Given the description of an element on the screen output the (x, y) to click on. 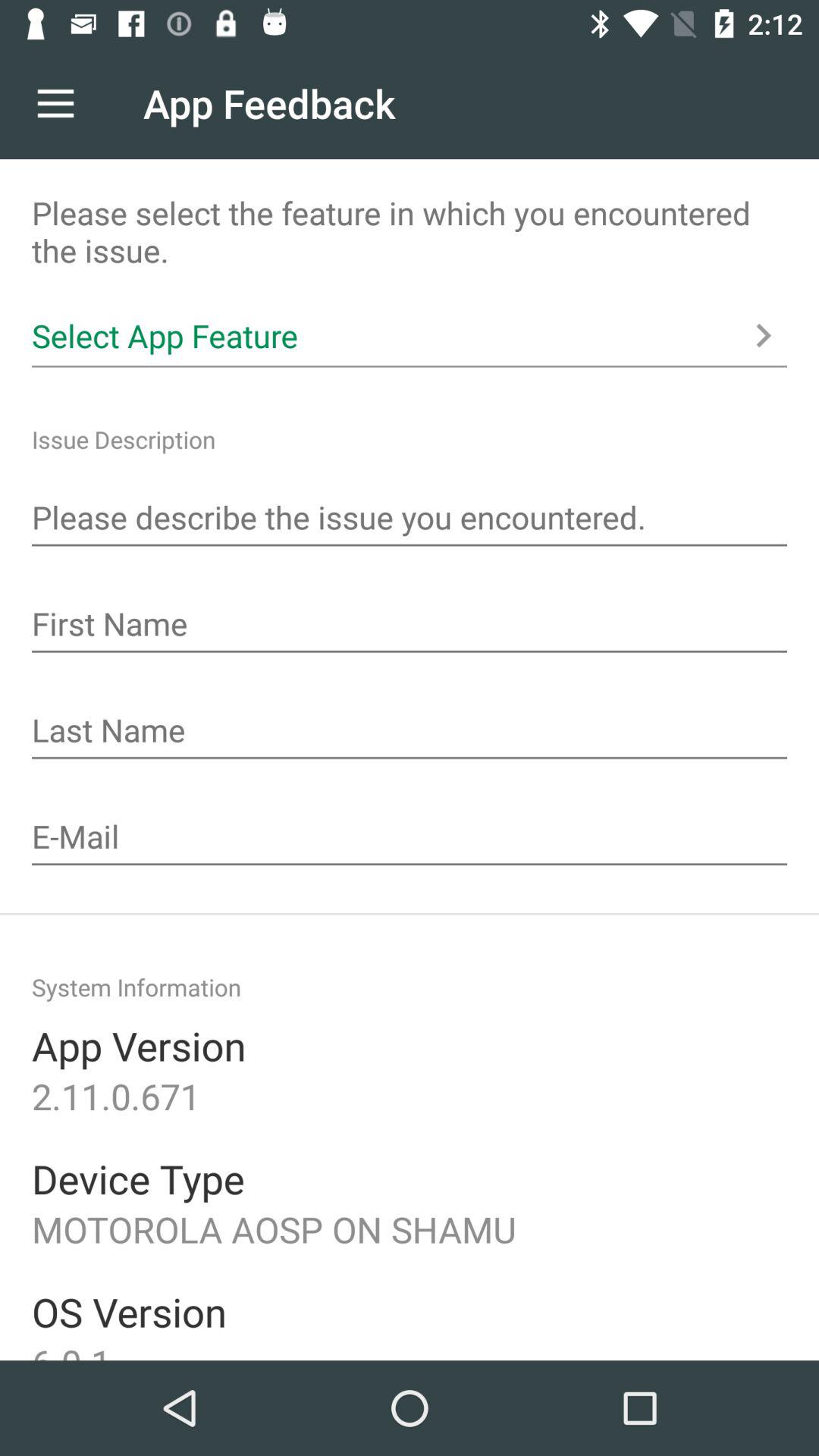
first name (409, 625)
